Given the description of an element on the screen output the (x, y) to click on. 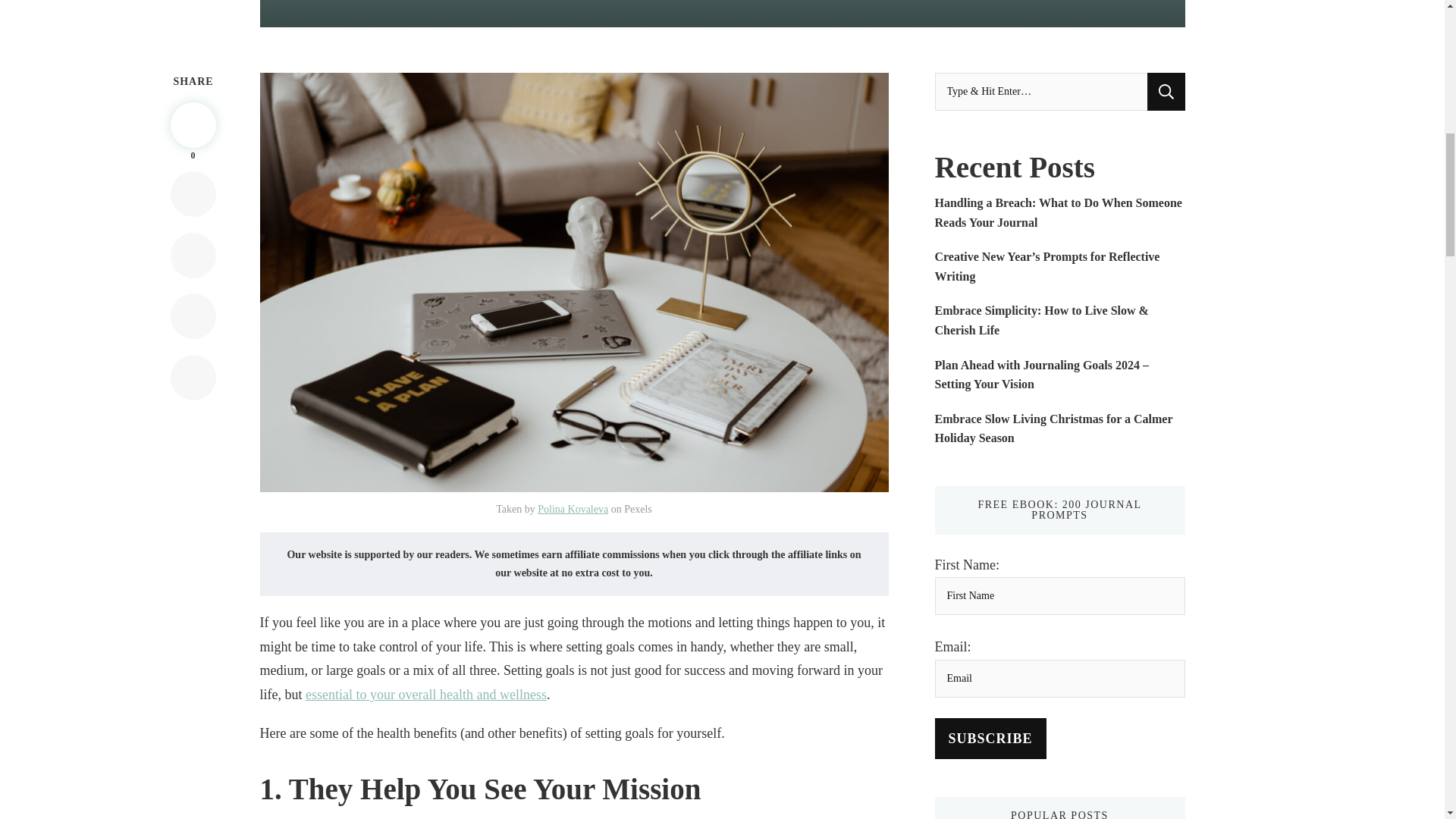
Polina Kovaleva (572, 509)
Search (1166, 91)
Search (1166, 91)
essential to your overall health and wellness (426, 694)
